Given the description of an element on the screen output the (x, y) to click on. 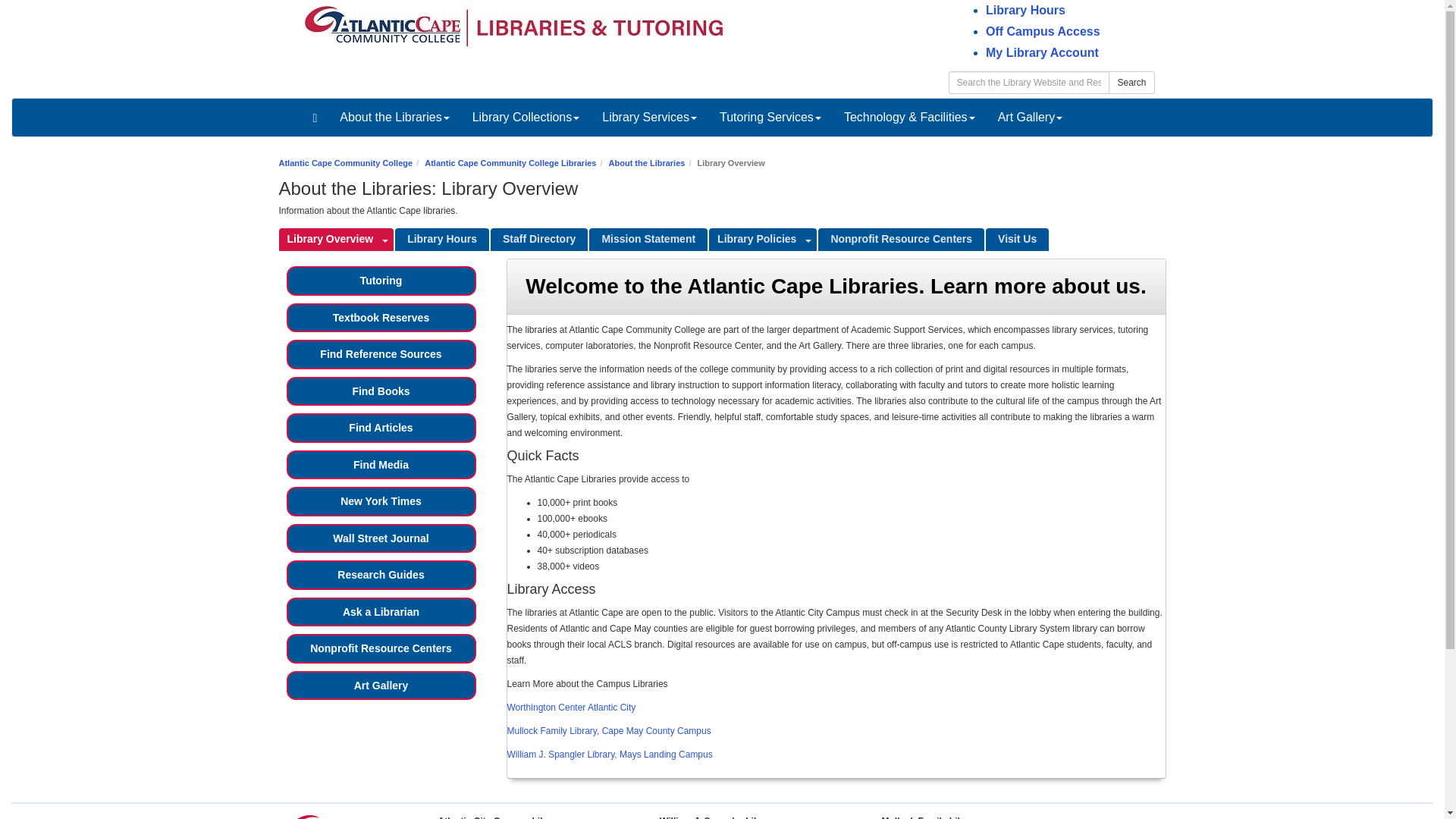
Contact Academic Support Services staff (539, 239)
Atlantic Cape Libraries (515, 26)
Art Gallery (1030, 117)
Library Hours (1025, 10)
Library Services (649, 117)
policy documents (754, 239)
Search (1131, 82)
My Library Account (1042, 51)
About the Libraries (394, 117)
The library's mission statement (648, 239)
Library Collections (526, 117)
Off Campus Access (1042, 31)
Tutoring Services (769, 117)
